Given the description of an element on the screen output the (x, y) to click on. 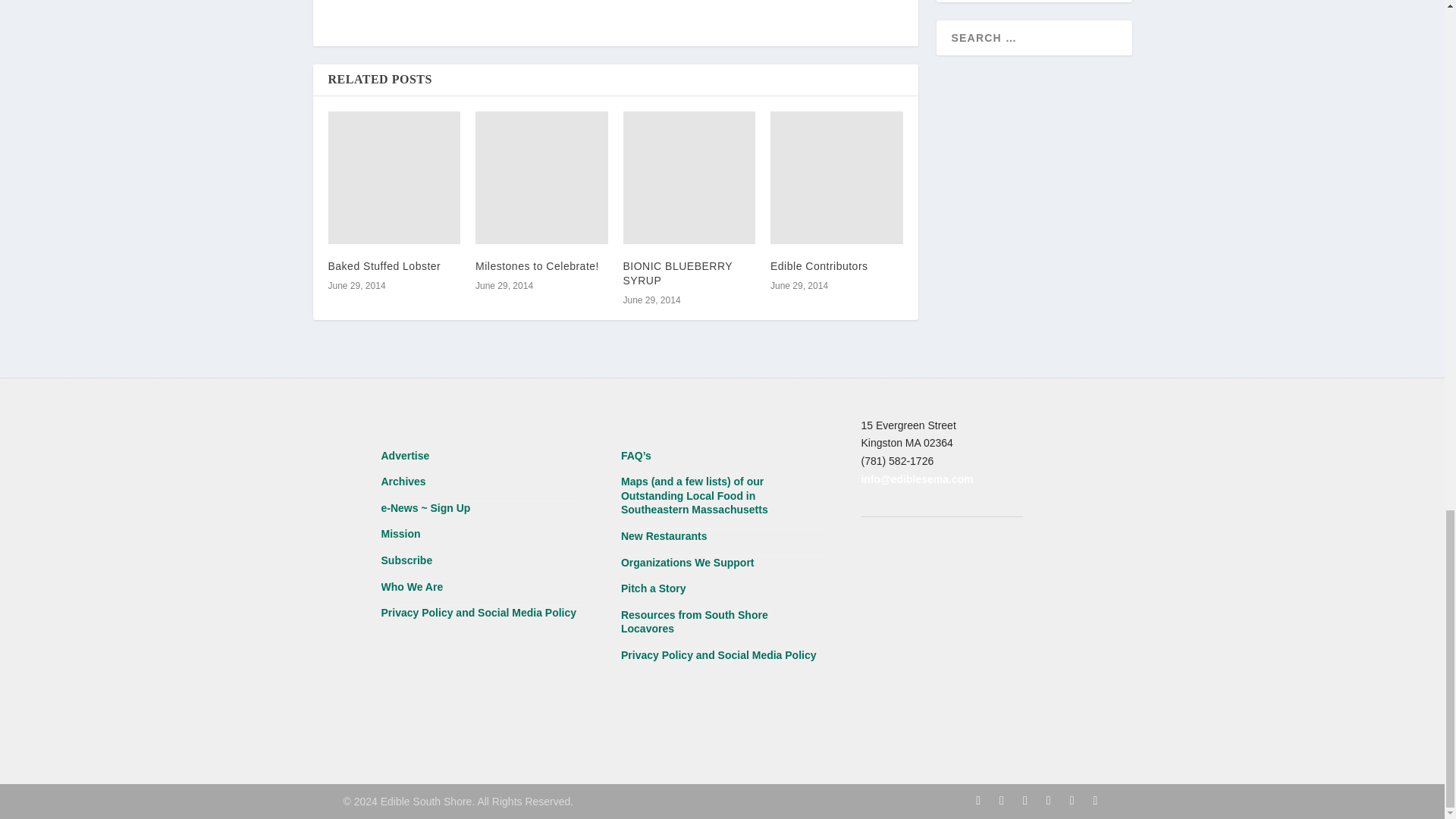
Baked Stuffed Lobster (393, 177)
Edible Contributors (836, 177)
Milestones to Celebrate! (542, 177)
BIONIC BLUEBERRY SYRUP (689, 177)
